Given the description of an element on the screen output the (x, y) to click on. 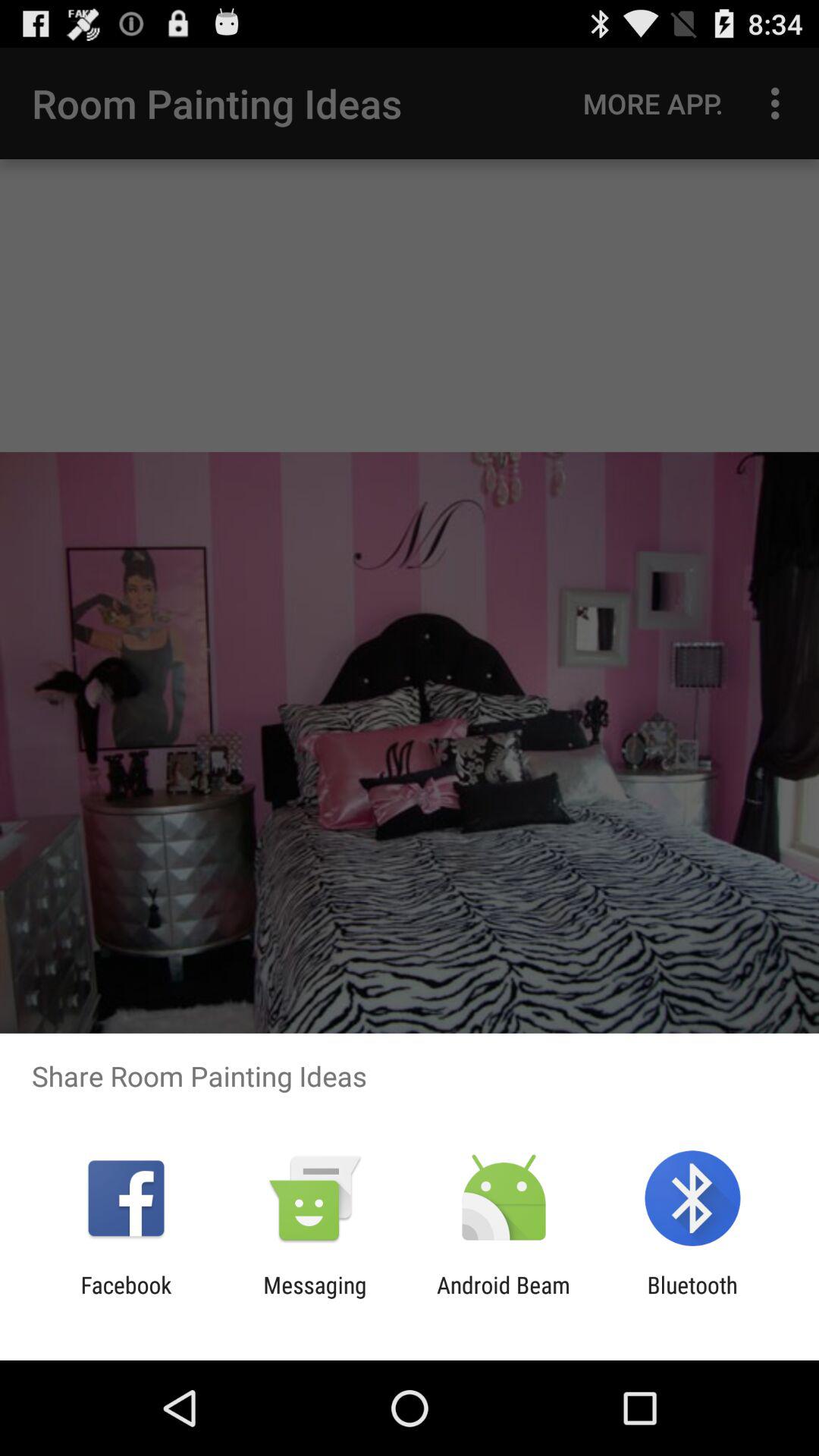
turn off bluetooth icon (692, 1298)
